Given the description of an element on the screen output the (x, y) to click on. 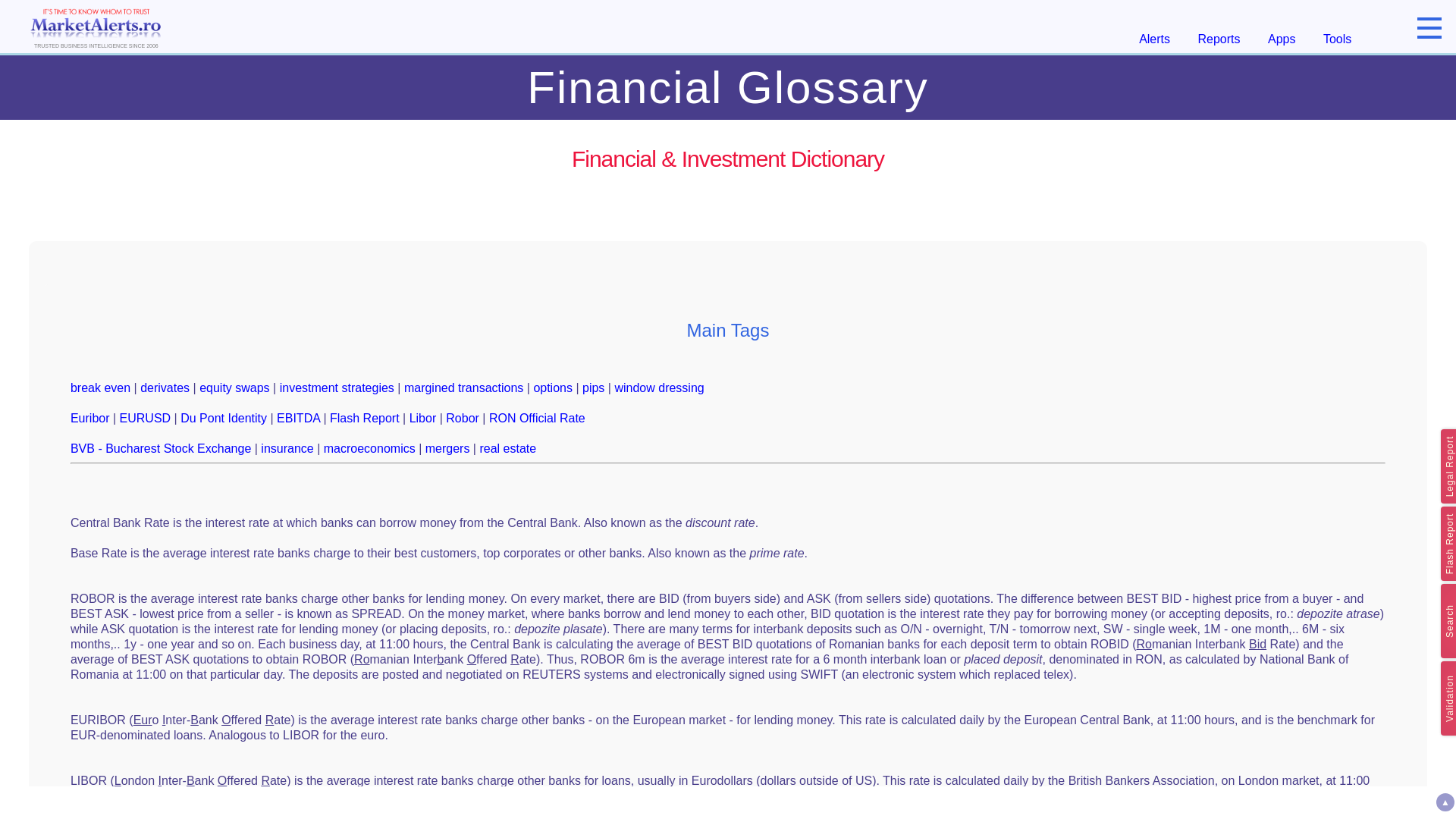
insurance (286, 448)
Du Pont Identity (223, 418)
Reports (1219, 38)
investment strategies (336, 387)
derivates (164, 387)
real estate (507, 448)
margined transactions (463, 387)
EURUSD (145, 418)
mergers (447, 448)
Apps (1281, 38)
TRUSTED BUSINESS INTELLIGENCE SINCE 2006 (96, 26)
Top (1444, 802)
Alerts (1154, 38)
Flash Report (364, 418)
Tools (1337, 38)
